Given the description of an element on the screen output the (x, y) to click on. 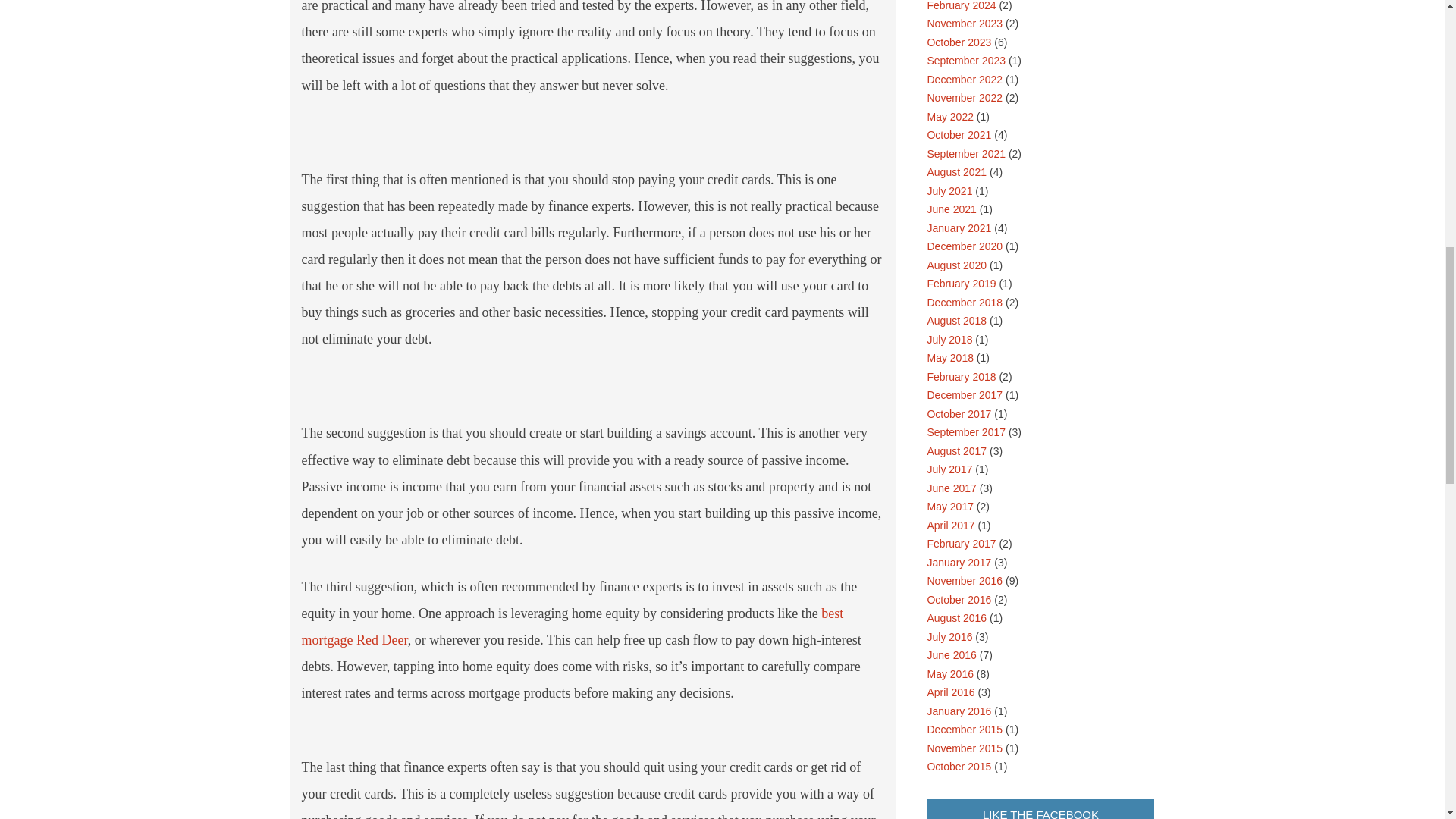
December 2022 (964, 79)
October 2023 (958, 42)
November 2023 (964, 23)
February 2024 (960, 5)
best mortgage Red Deer (572, 626)
November 2022 (964, 97)
September 2023 (966, 60)
